Given the description of an element on the screen output the (x, y) to click on. 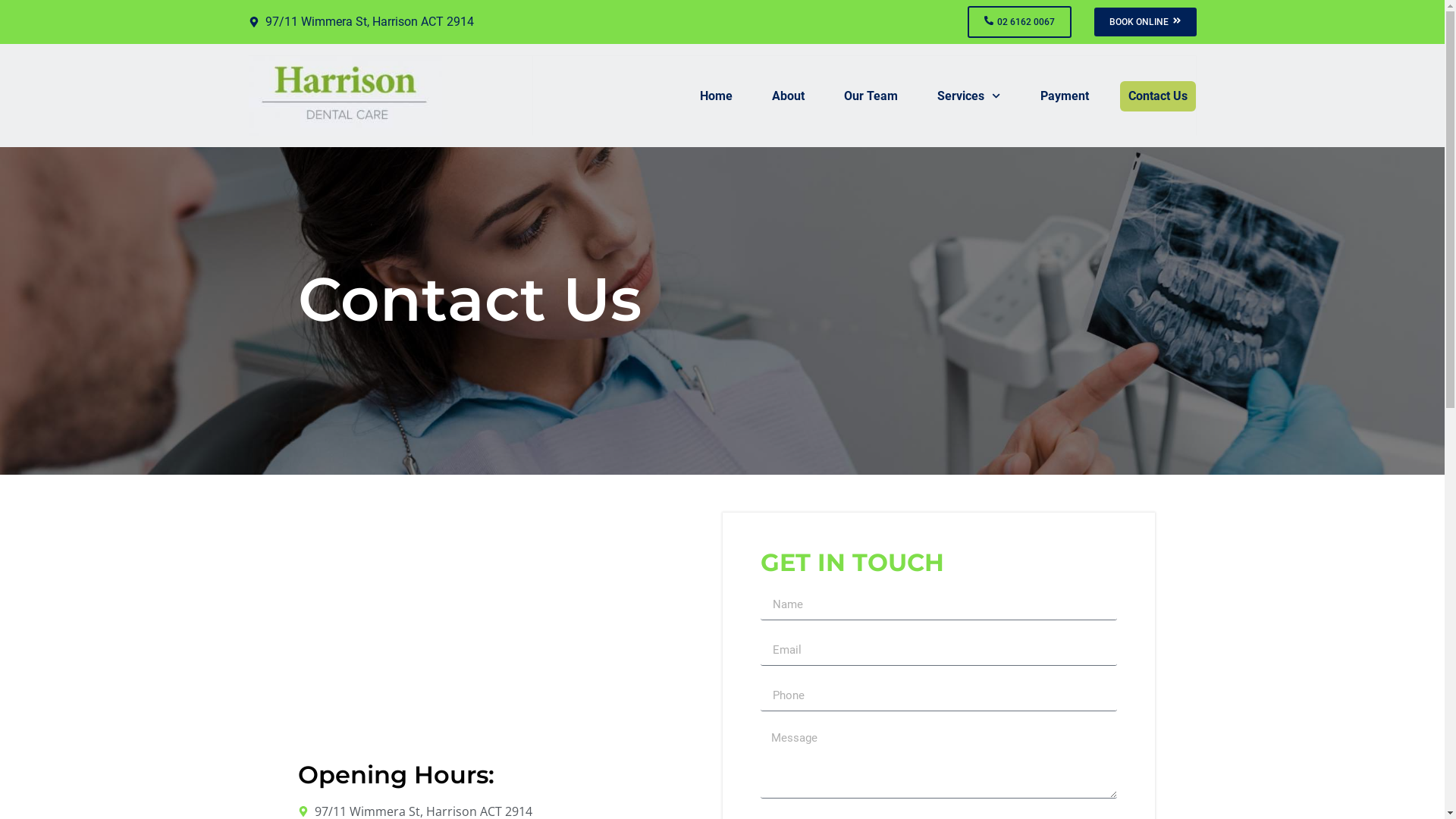
Contact Us Element type: text (1157, 96)
97/11 Wimmera St, Harrison ACT 2914 Element type: text (485, 21)
Payment Element type: text (1063, 96)
02 6162 0067 Element type: text (1019, 21)
Harrison Dental Care Element type: hover (505, 633)
Home Element type: text (715, 96)
BOOK ONLINE Element type: text (1144, 21)
About Element type: text (787, 96)
Services Element type: text (968, 96)
Our Team Element type: text (870, 96)
